Given the description of an element on the screen output the (x, y) to click on. 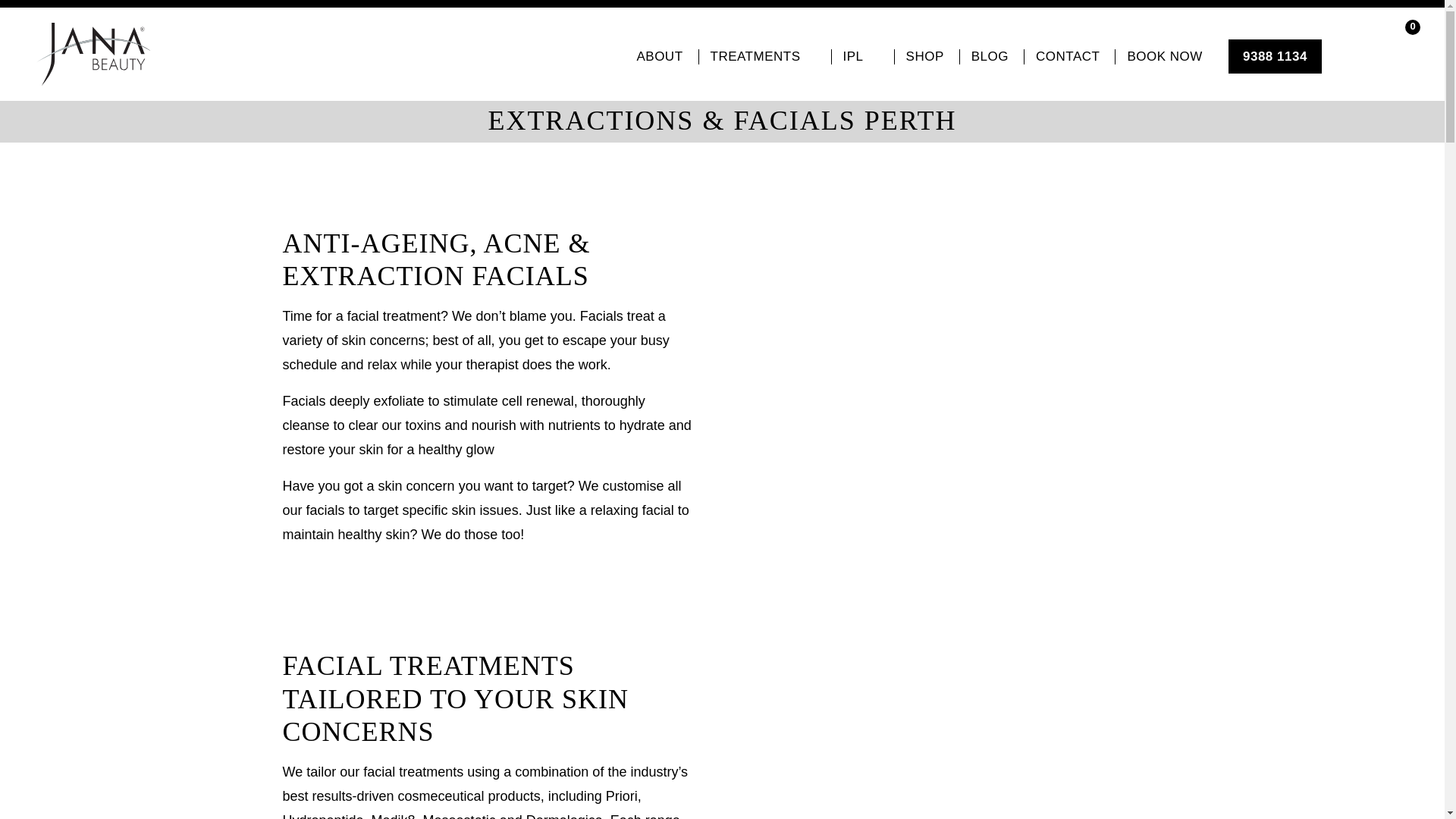
0 (1403, 48)
BLOG (989, 56)
Jana Beauty Online Booking (1163, 56)
ABOUT (659, 56)
BOOK NOW (1163, 56)
TREATMENTS (762, 56)
SHOP (924, 56)
IPL (860, 56)
Jana Beauty (93, 54)
9388 1134 (1275, 56)
CONTACT (1066, 56)
About Jana Beauty Salon Perth (659, 56)
